Given the description of an element on the screen output the (x, y) to click on. 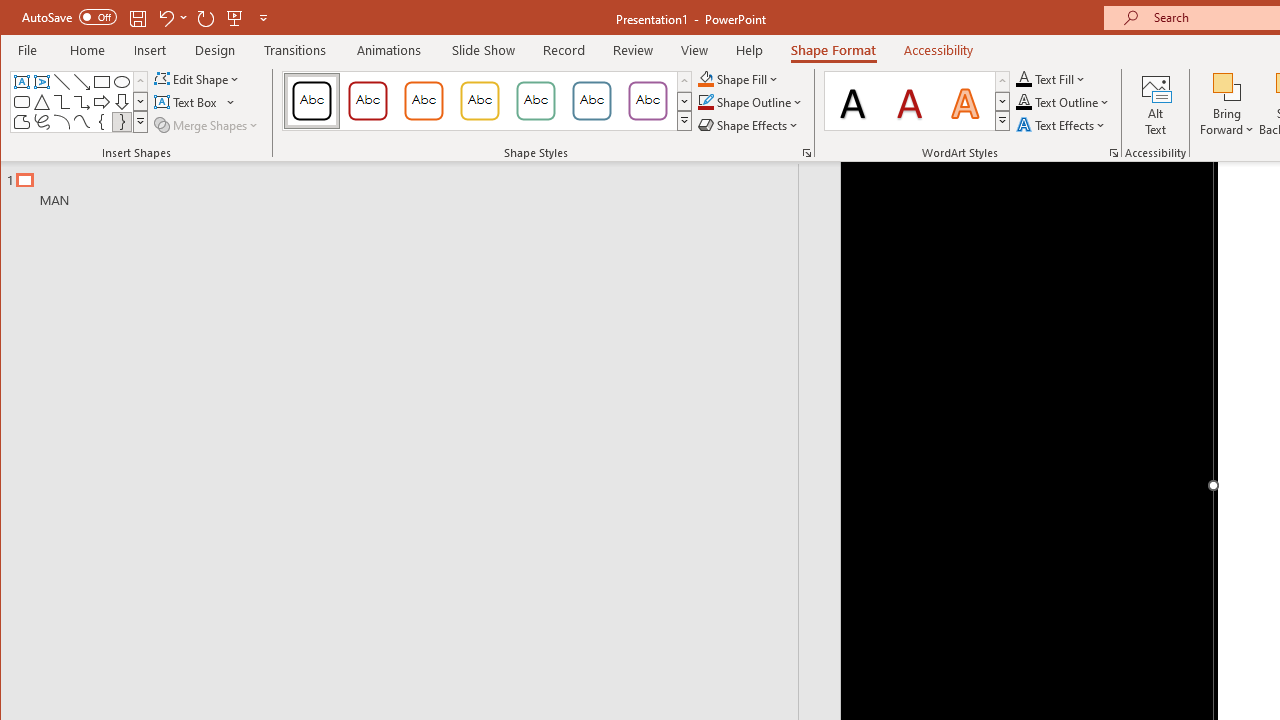
Merge Shapes (207, 124)
Colored Outline - Purple, Accent 6 (647, 100)
Format Text Effects... (1113, 152)
